Given the description of an element on the screen output the (x, y) to click on. 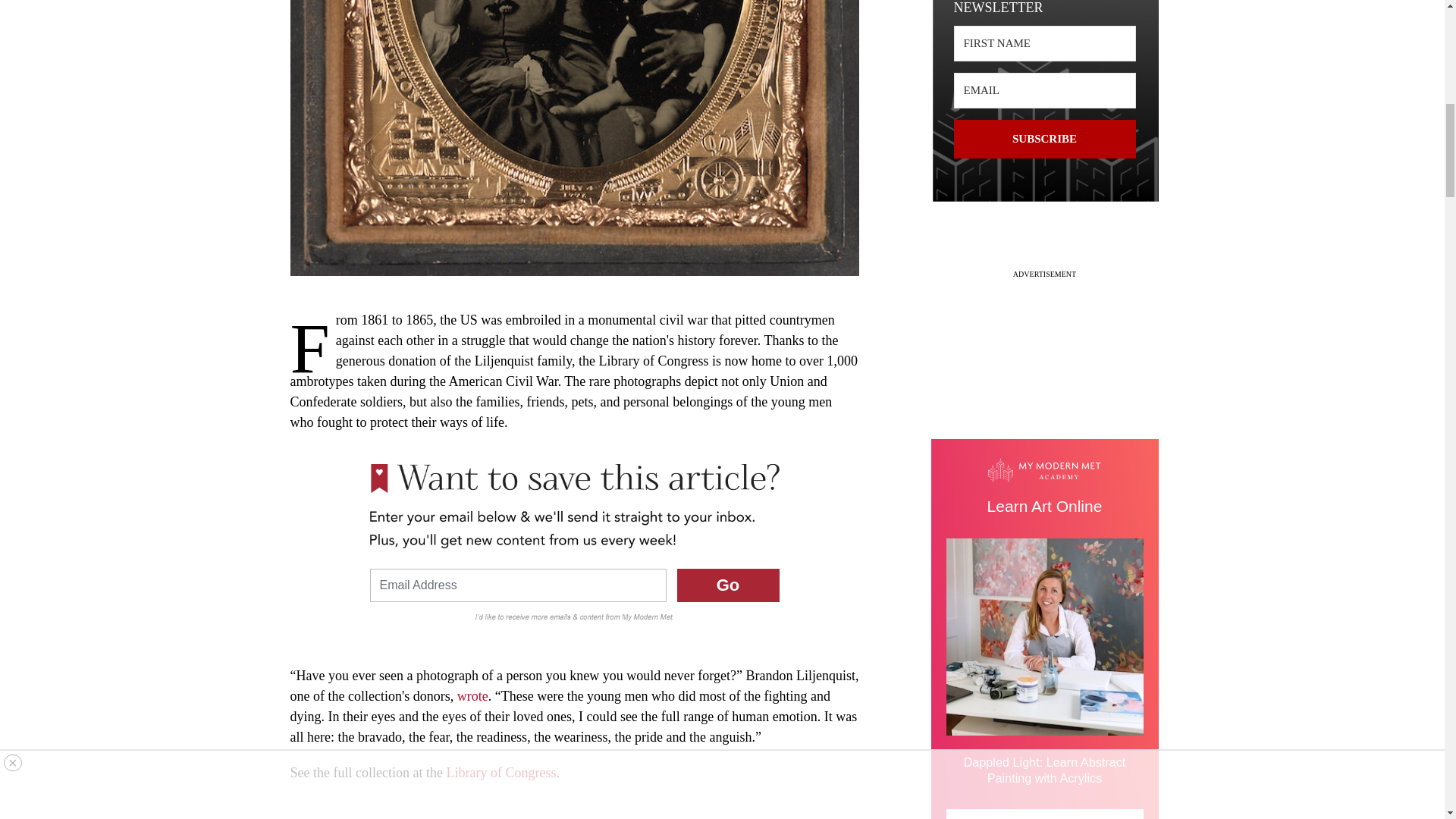
Go (727, 584)
